Given the description of an element on the screen output the (x, y) to click on. 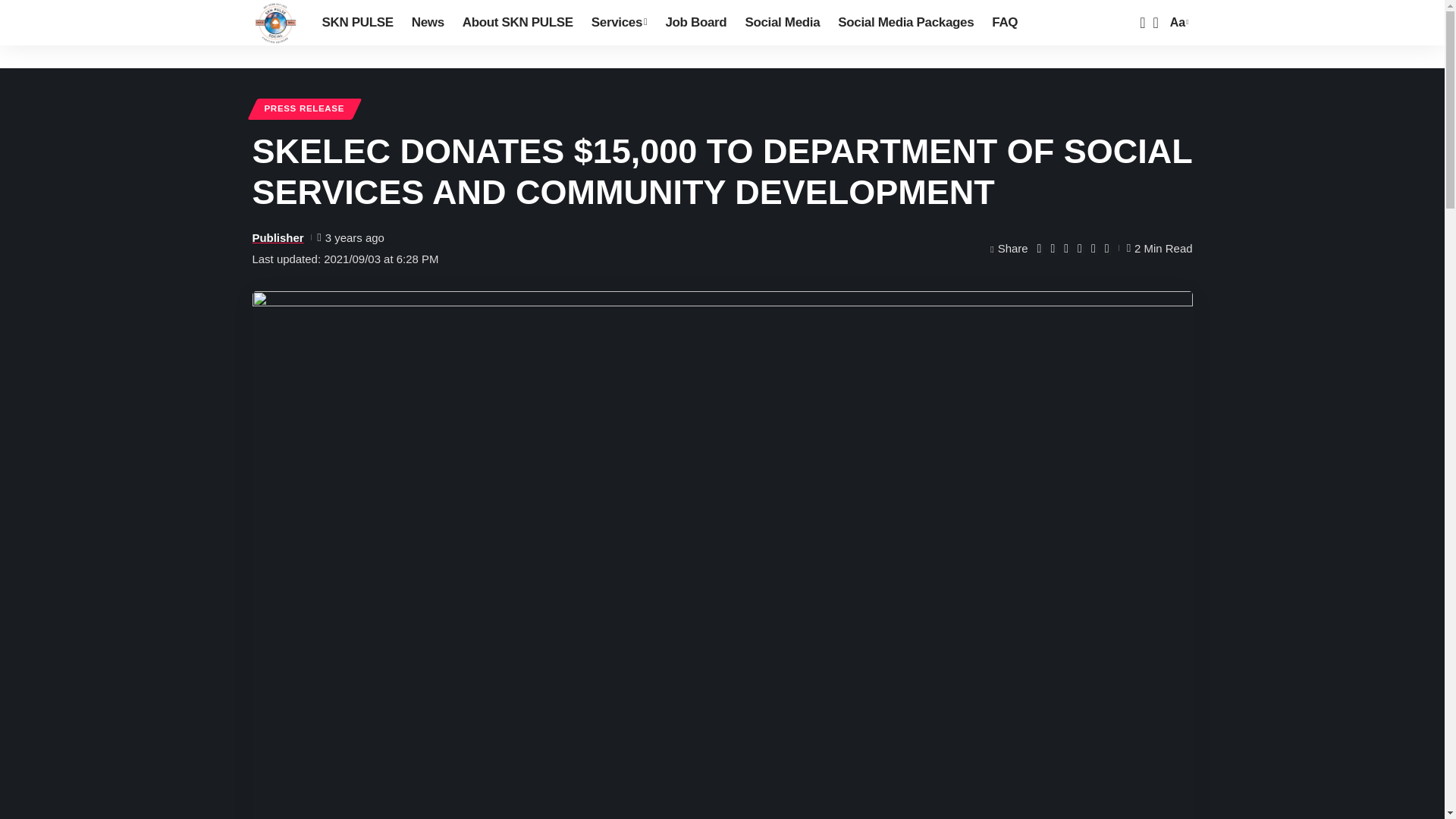
News (427, 22)
Services (619, 22)
FAQ (1004, 22)
Social Media (781, 22)
Job Board (695, 22)
About SKN PULSE (517, 22)
Aa (1177, 22)
Social Media Packages (905, 22)
SKN PULSE (274, 22)
SKN PULSE (357, 22)
